Given the description of an element on the screen output the (x, y) to click on. 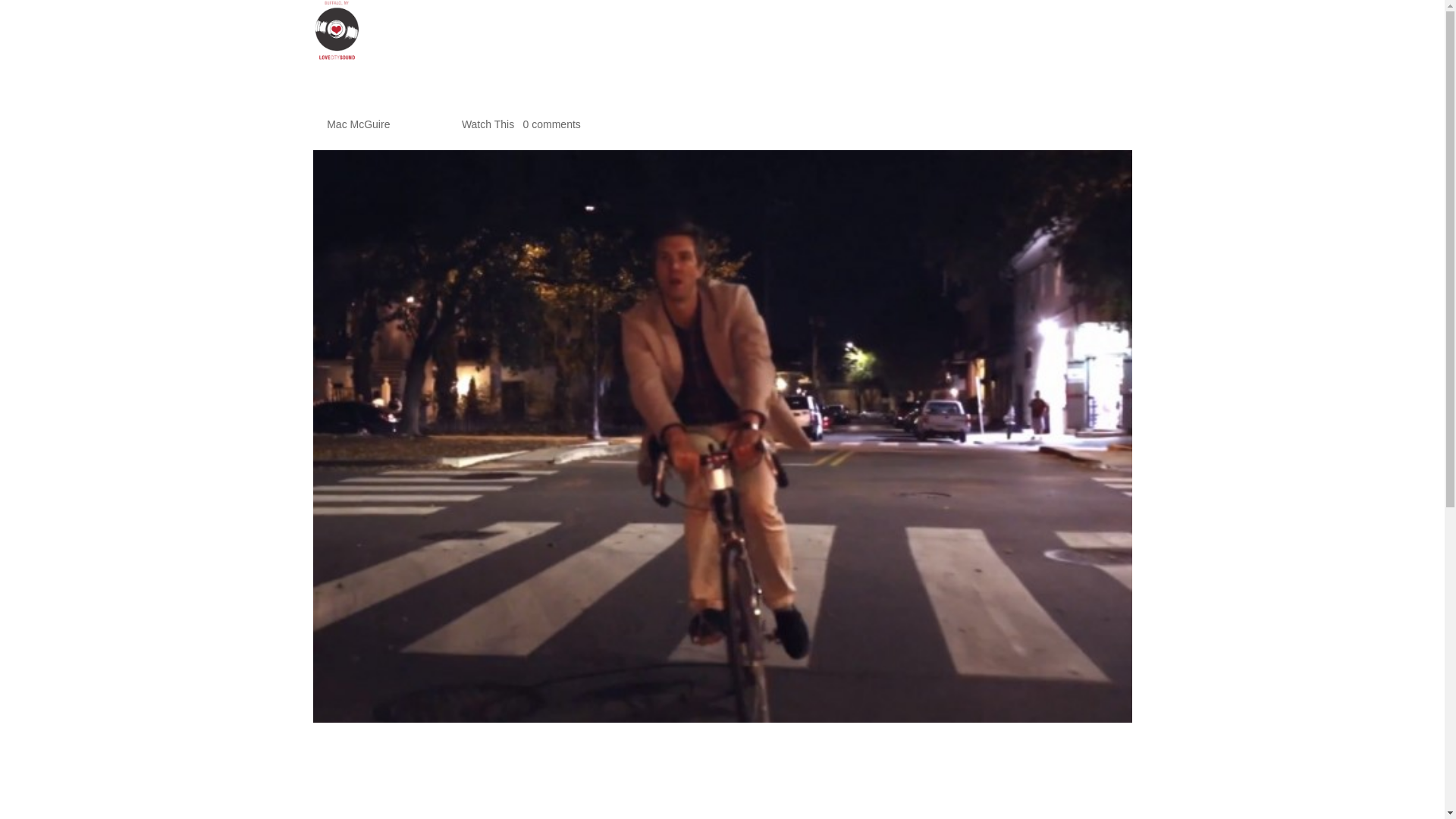
Watch This (487, 123)
0 comments (551, 123)
Mac McGuire (358, 123)
Calendar (1079, 42)
New Music (1000, 42)
About Us (922, 42)
Posts by Mac McGuire (358, 123)
